Given the description of an element on the screen output the (x, y) to click on. 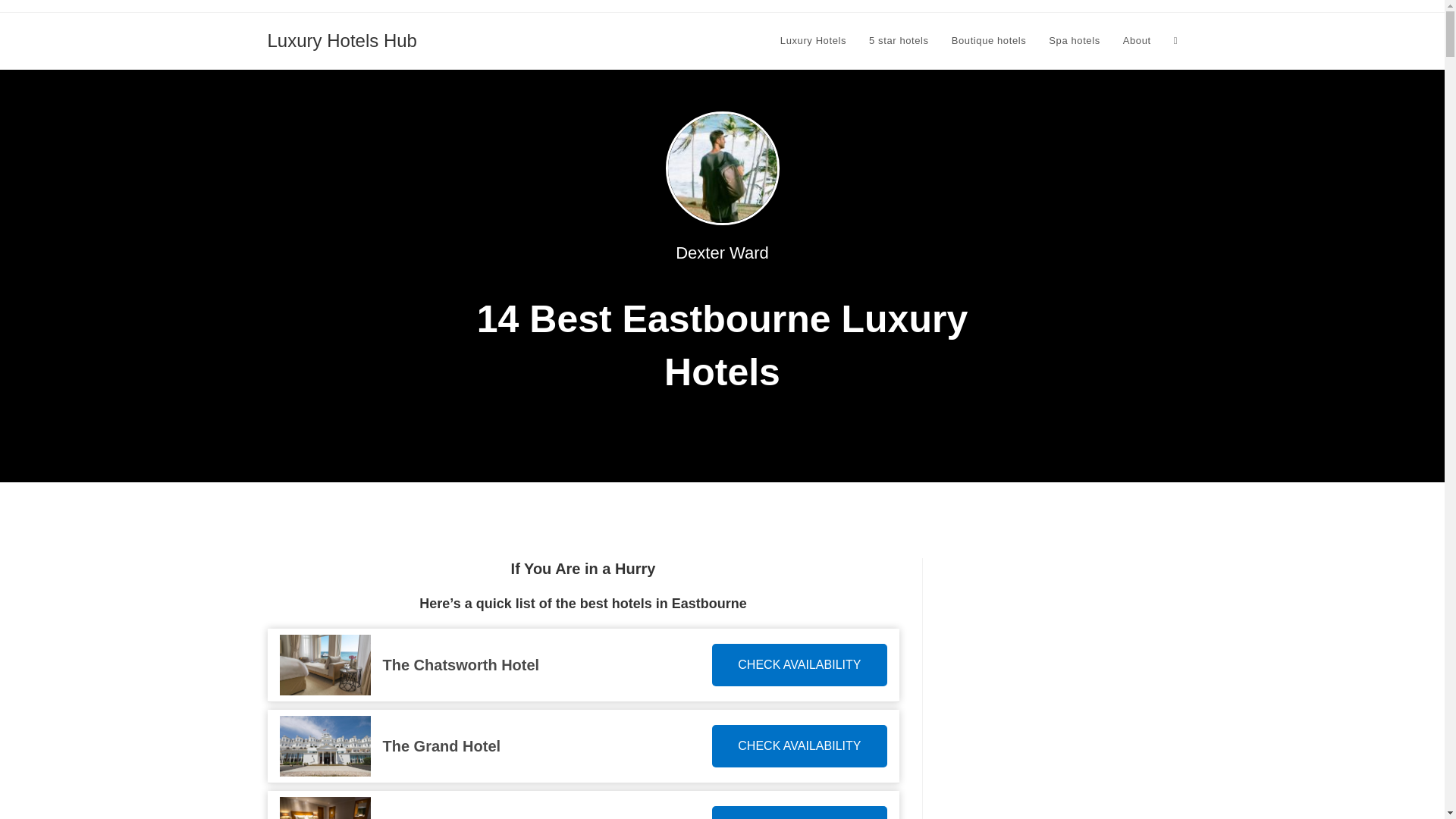
Boutique hotels (989, 40)
About (1136, 40)
Spa hotels (1073, 40)
Dexter Ward (721, 252)
5 star hotels (898, 40)
Luxury Hotels Hub (341, 40)
Luxury Hotels (812, 40)
